Given the description of an element on the screen output the (x, y) to click on. 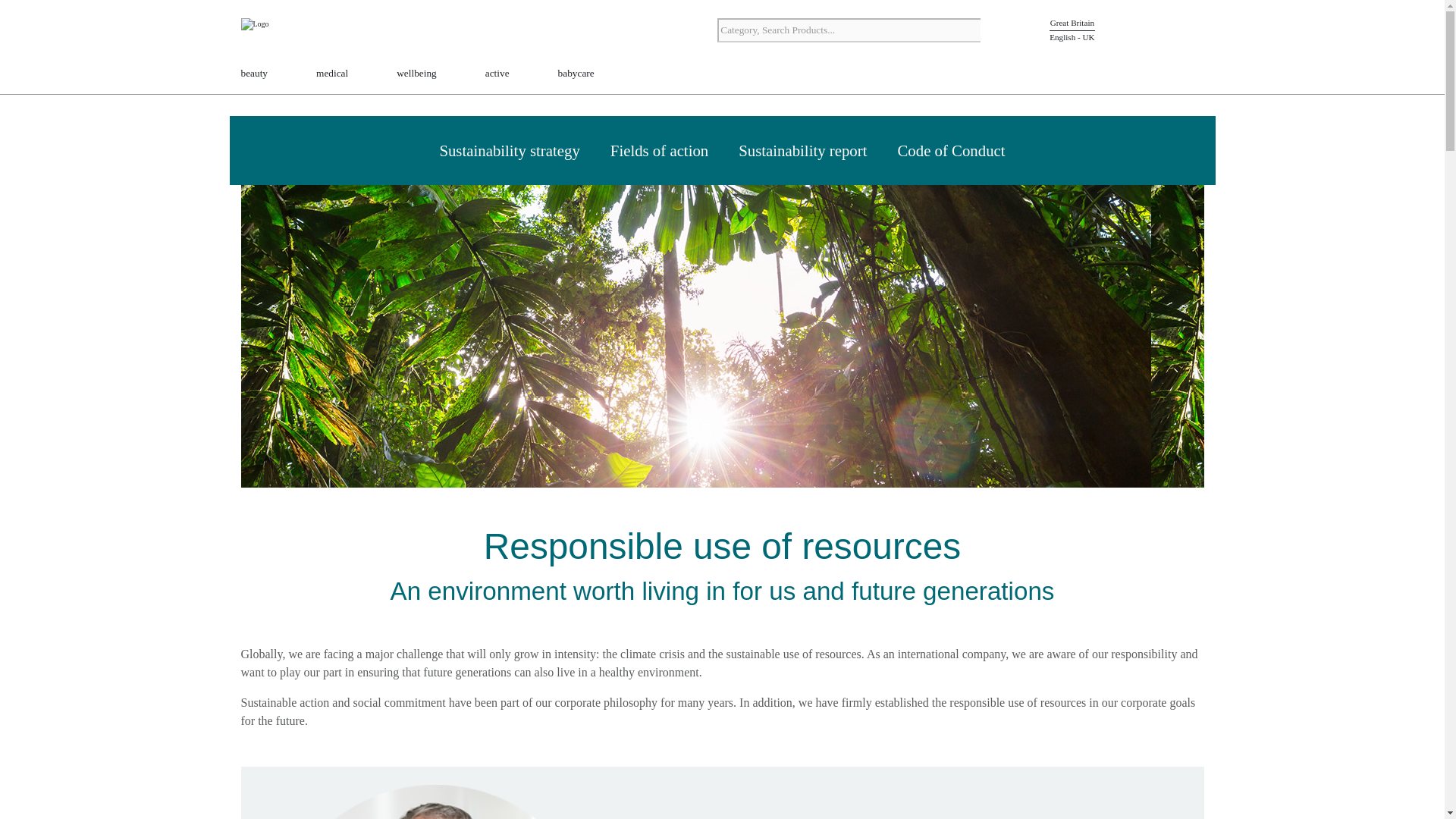
active (496, 73)
Logo (287, 31)
wellbeing (416, 73)
beauty (254, 73)
medical (331, 73)
beauty (254, 73)
babycare (575, 73)
